Given the description of an element on the screen output the (x, y) to click on. 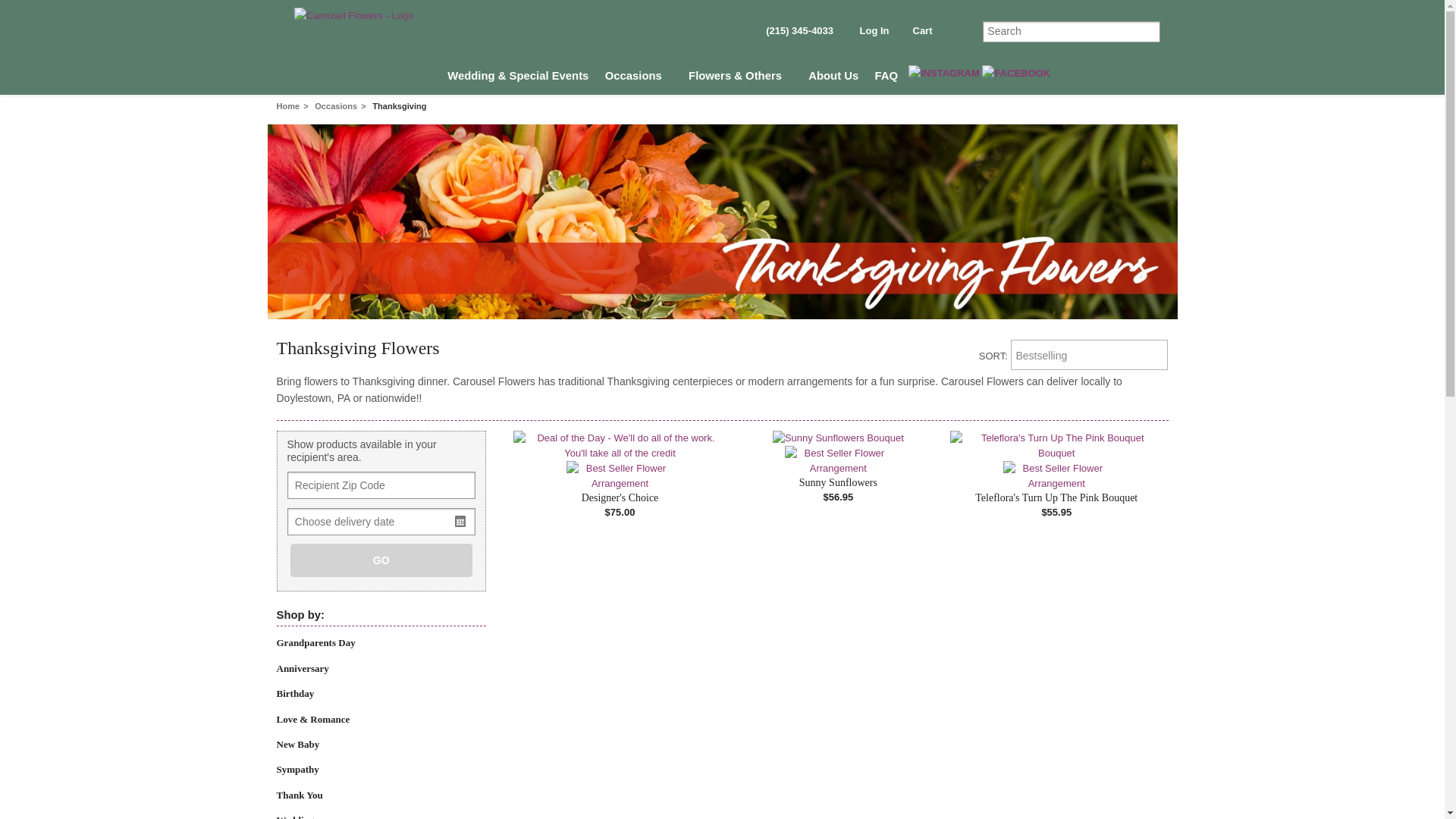
GO (380, 560)
Cart (919, 36)
log In (870, 33)
FAQ (885, 78)
Occasions (638, 78)
Log In (870, 33)
Go (1149, 32)
About Us (833, 78)
Sort By (1088, 354)
Search (1071, 31)
